Given the description of an element on the screen output the (x, y) to click on. 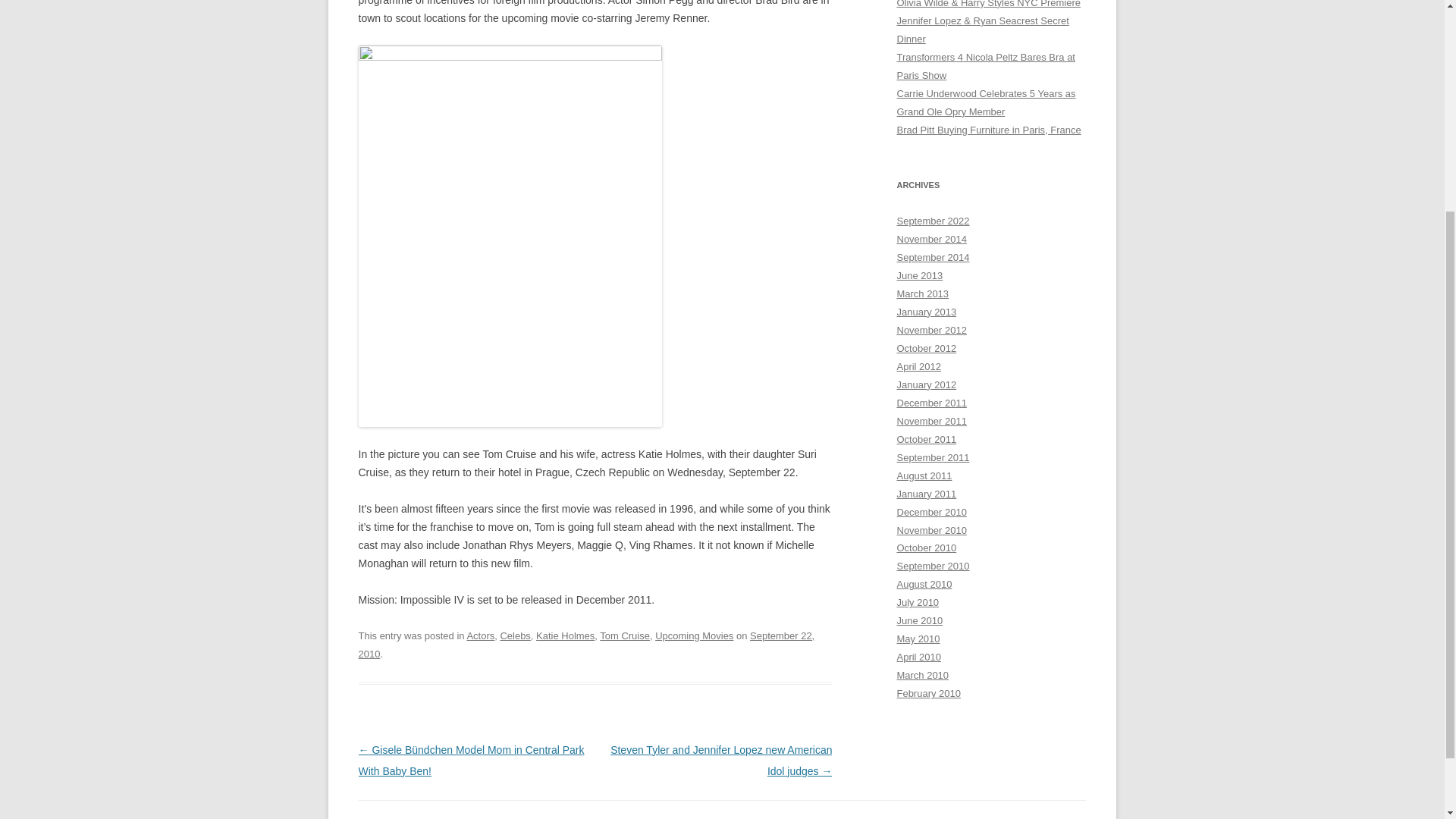
Actors (480, 635)
January 2012 (926, 384)
November 2014 (931, 238)
November 2012 (931, 329)
March 2013 (922, 293)
November 2010 (931, 529)
September 22, 2010 (585, 644)
Celebs (514, 635)
Katie Holmes (564, 635)
April 2012 (918, 366)
